Given the description of an element on the screen output the (x, y) to click on. 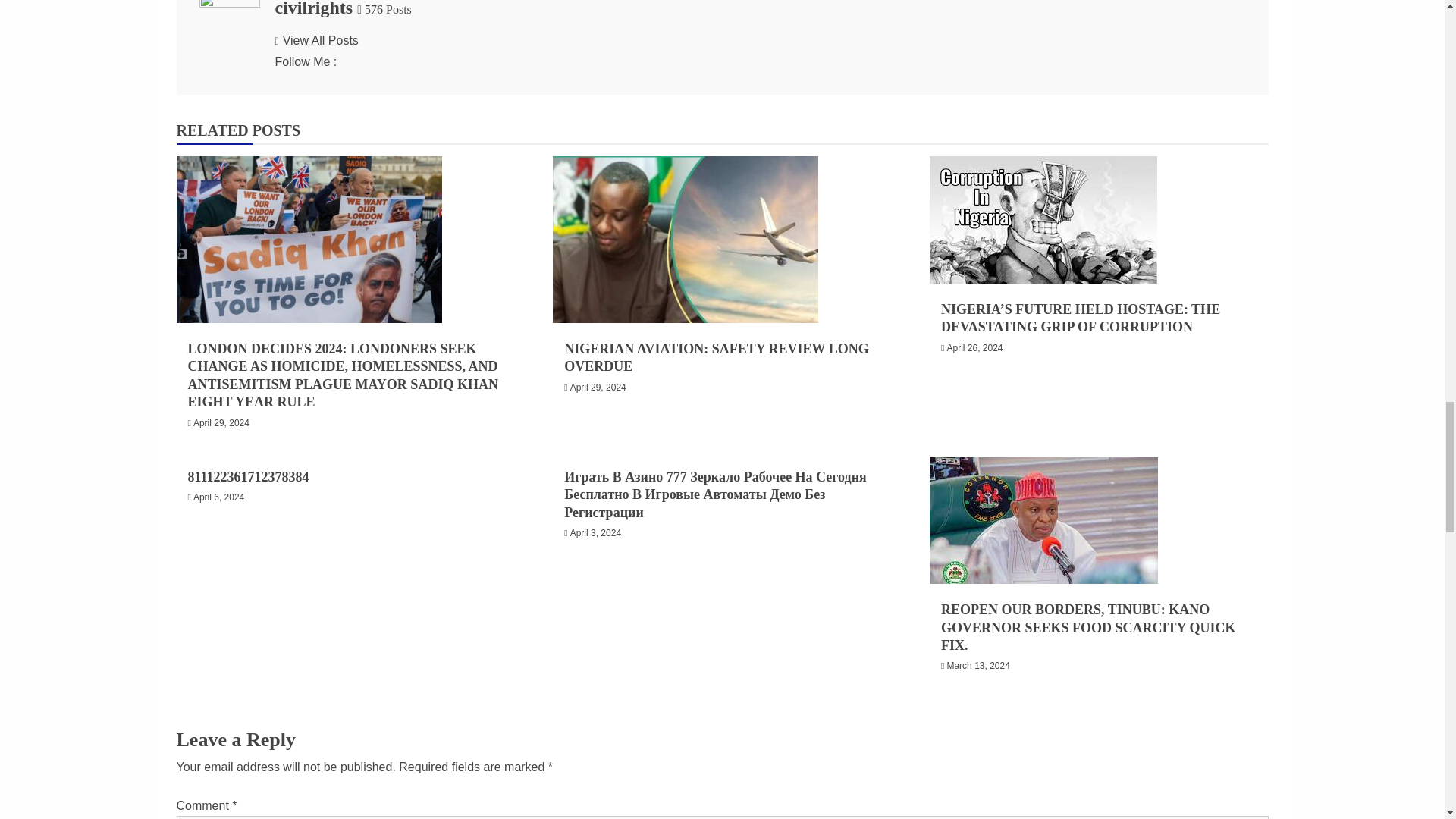
Posts by civilrights (313, 8)
View All Posts (316, 40)
civilrights (313, 8)
